Given the description of an element on the screen output the (x, y) to click on. 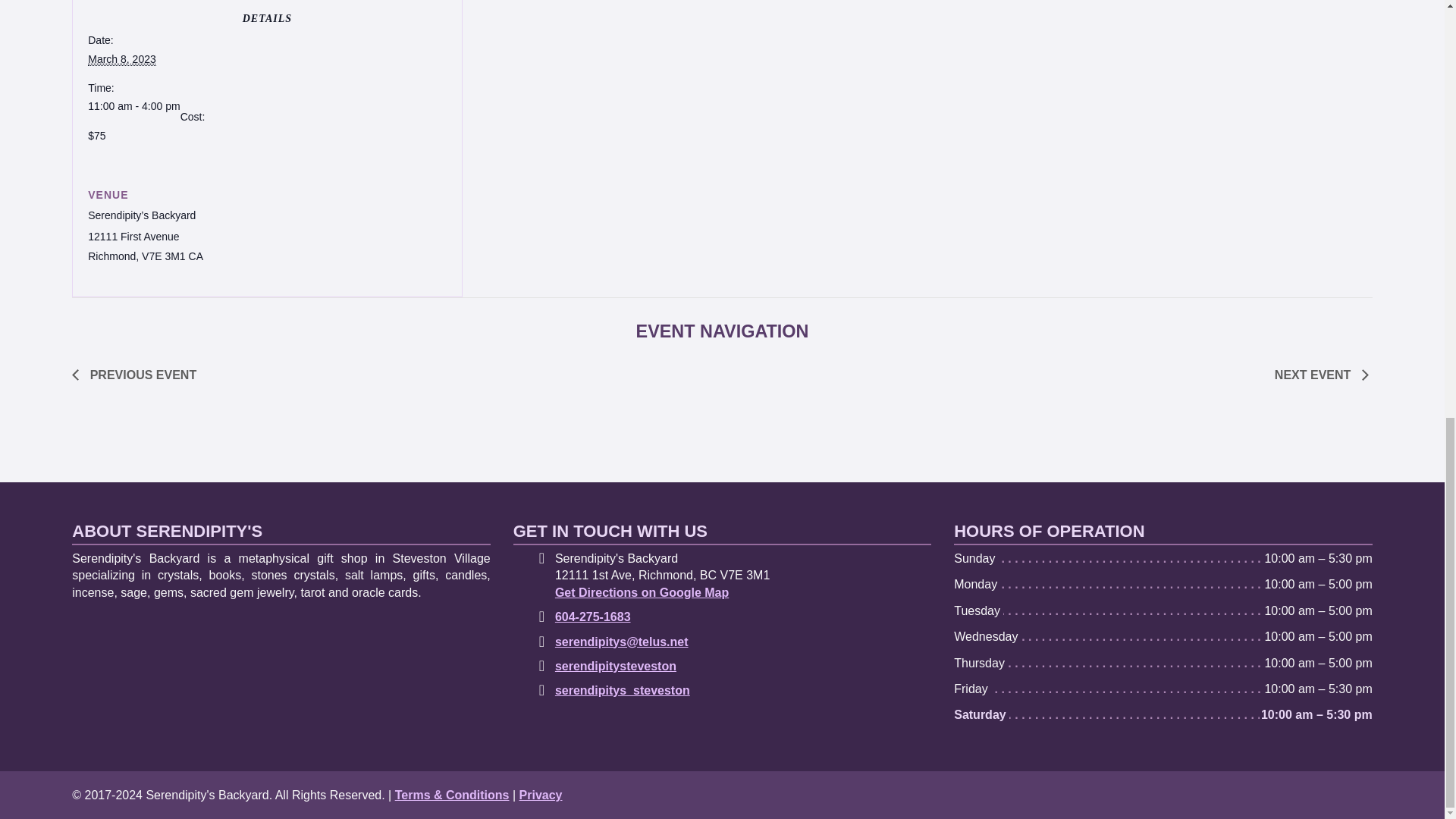
PREVIOUS EVENT (138, 374)
serendipitysteveston (615, 666)
NEXT EVENT (1317, 374)
Privacy (540, 794)
604-275-1683 (592, 616)
2023-03-08 (133, 106)
2023-03-08 (121, 59)
Get Directions on Google Map (641, 592)
